Given the description of an element on the screen output the (x, y) to click on. 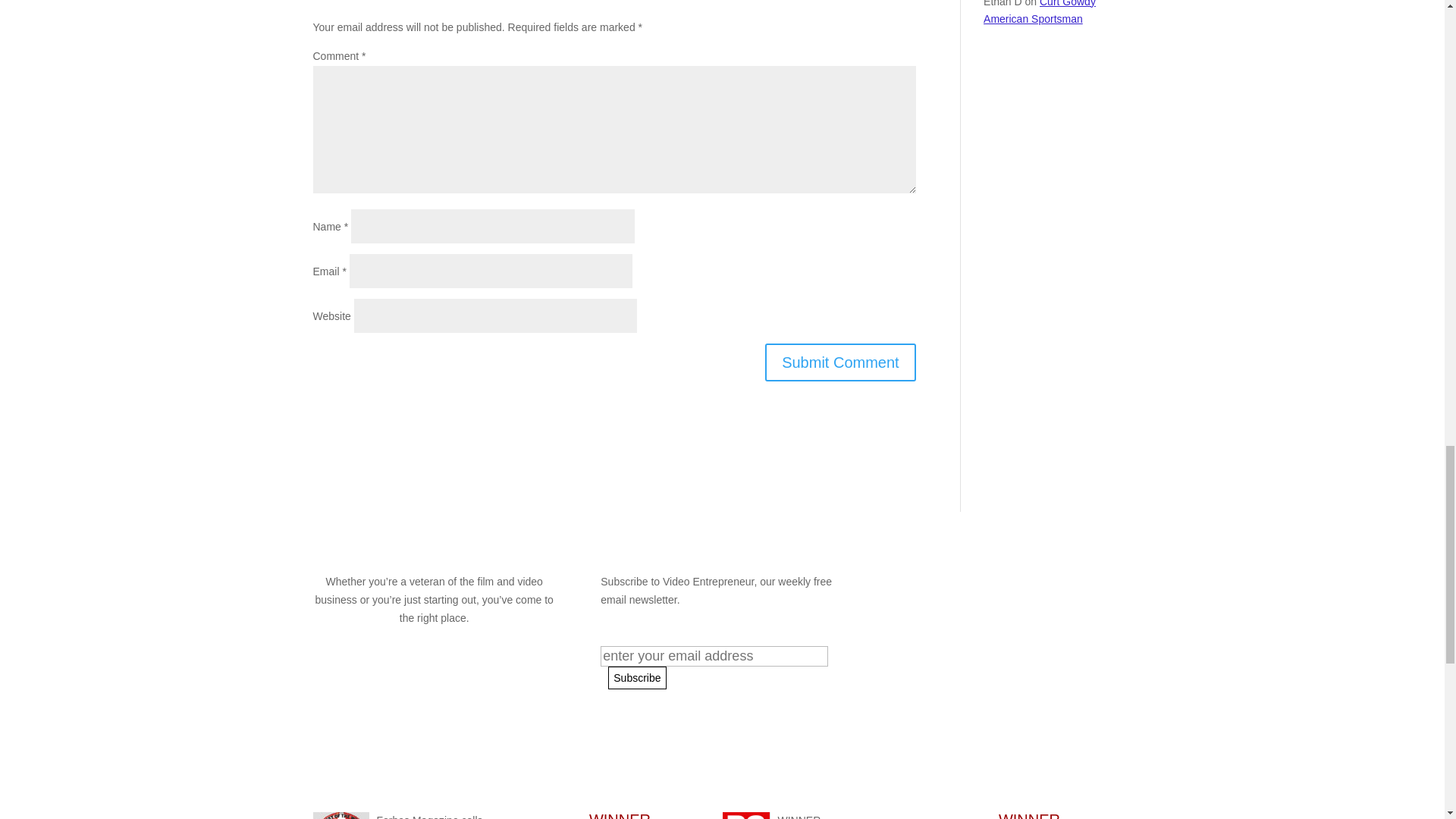
Subscribe (636, 676)
Submit Comment (840, 362)
